Given the description of an element on the screen output the (x, y) to click on. 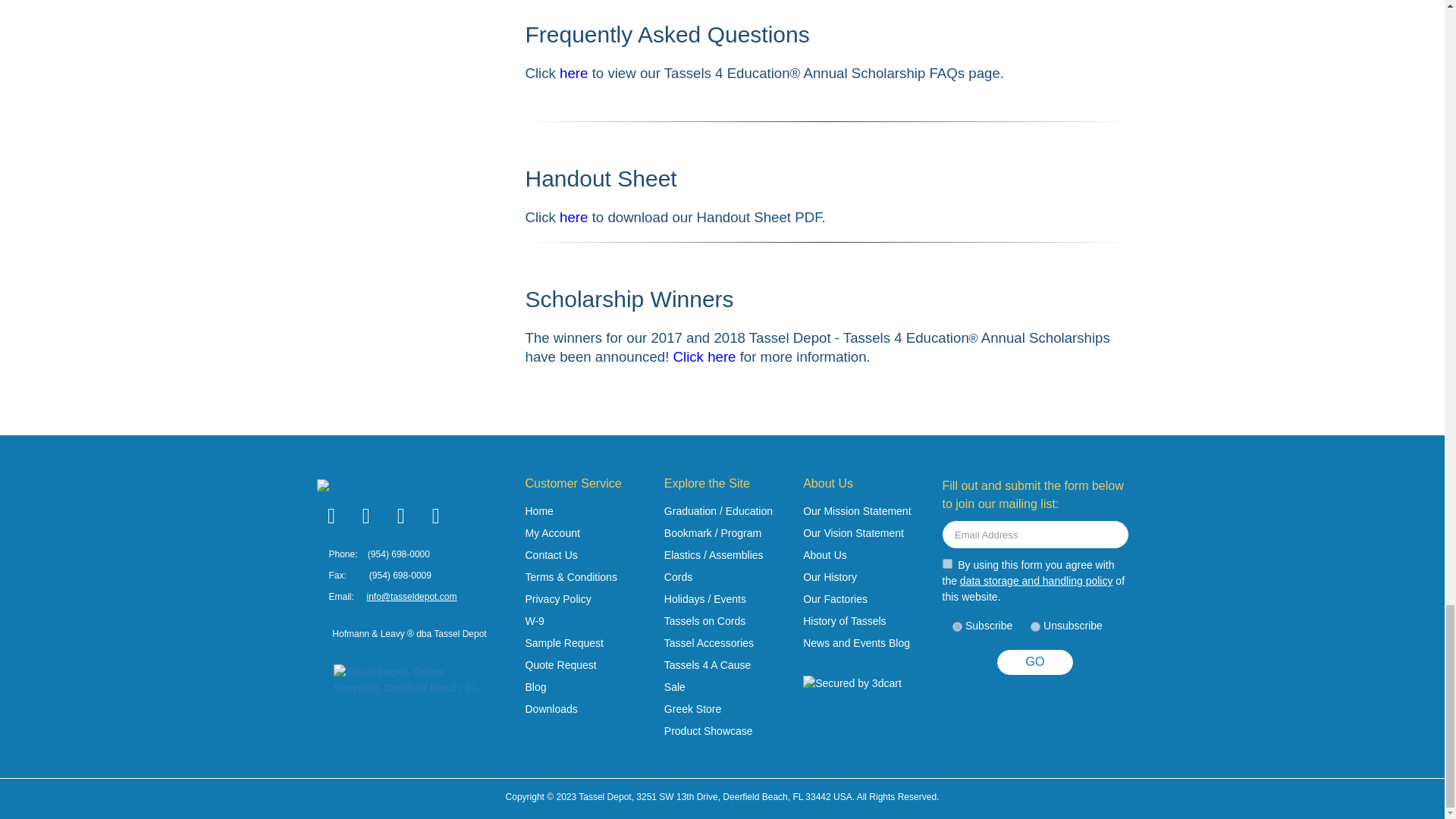
Secured by 3dcart (852, 683)
Follow Us on Twitter (362, 516)
Follow Us on Pinterest (397, 516)
Tassel Depot, Online Shopping, Deerfield Beach, FL (408, 698)
0 (1035, 626)
Follow Us on Instagram (432, 516)
Like Us on Facebook (328, 516)
1 (947, 563)
1 (957, 626)
